Given the description of an element on the screen output the (x, y) to click on. 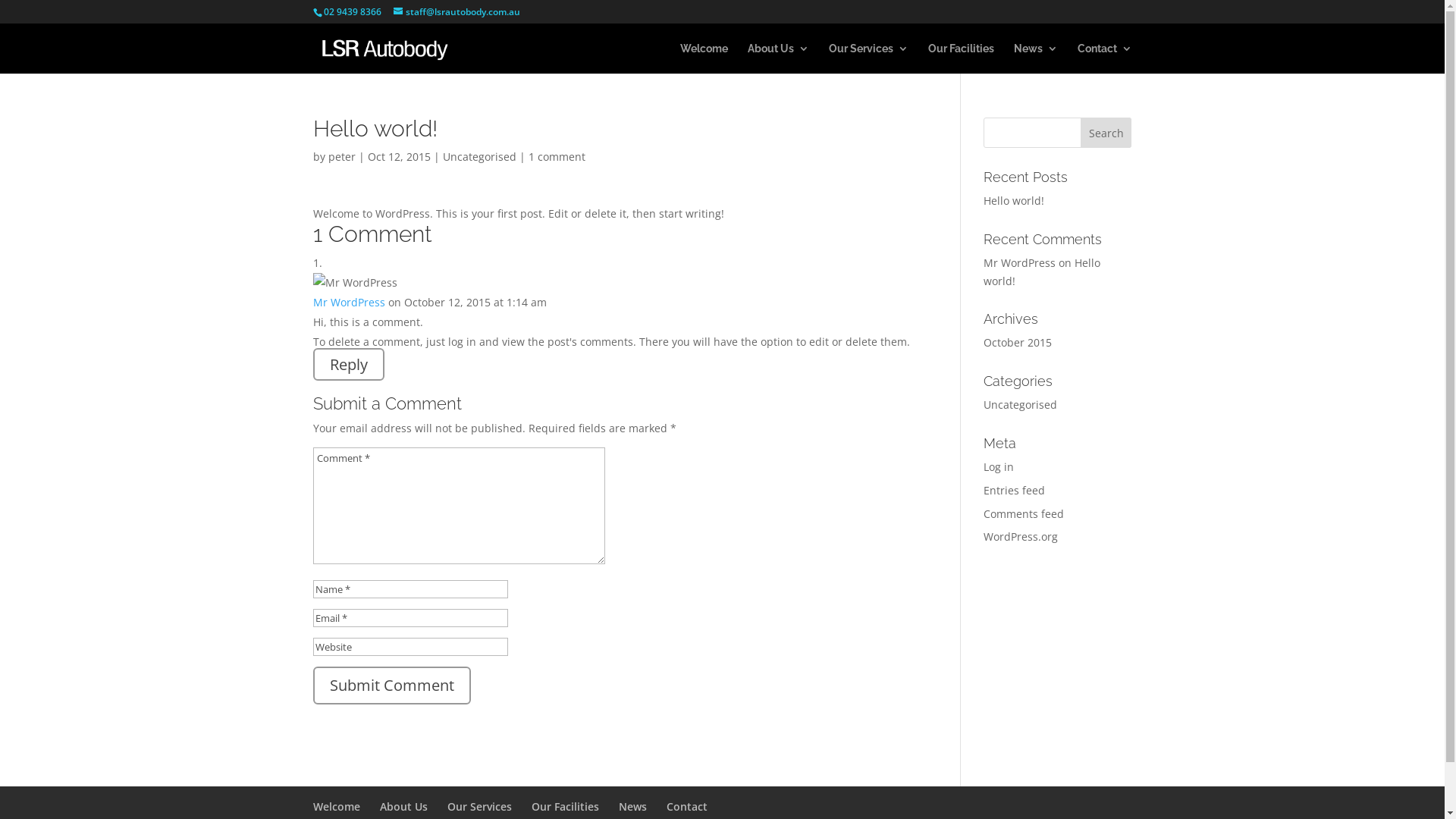
staff@lsrautobody.com.au Element type: text (455, 11)
Comments feed Element type: text (1023, 513)
1 comment Element type: text (555, 156)
Our Facilities Element type: text (961, 58)
About Us Element type: text (402, 806)
Reply Element type: text (347, 364)
Search Element type: text (1106, 132)
Submit Comment Element type: text (391, 685)
peter Element type: text (340, 156)
Welcome Element type: text (703, 58)
Log in Element type: text (998, 466)
About Us Element type: text (778, 58)
Entries feed Element type: text (1013, 490)
Mr WordPress Element type: text (348, 301)
Contact Element type: text (685, 806)
Our Services Element type: text (479, 806)
WordPress.org Element type: text (1020, 536)
Our Services Element type: text (867, 58)
Welcome Element type: text (335, 806)
October 2015 Element type: text (1017, 342)
News Element type: text (632, 806)
Uncategorised Element type: text (1020, 404)
Hello world! Element type: text (1041, 271)
Hello world! Element type: text (1013, 200)
Our Facilities Element type: text (564, 806)
Contact Element type: text (1103, 58)
Uncategorised Element type: text (479, 156)
Mr WordPress Element type: text (1019, 262)
News Element type: text (1035, 58)
